Given the description of an element on the screen output the (x, y) to click on. 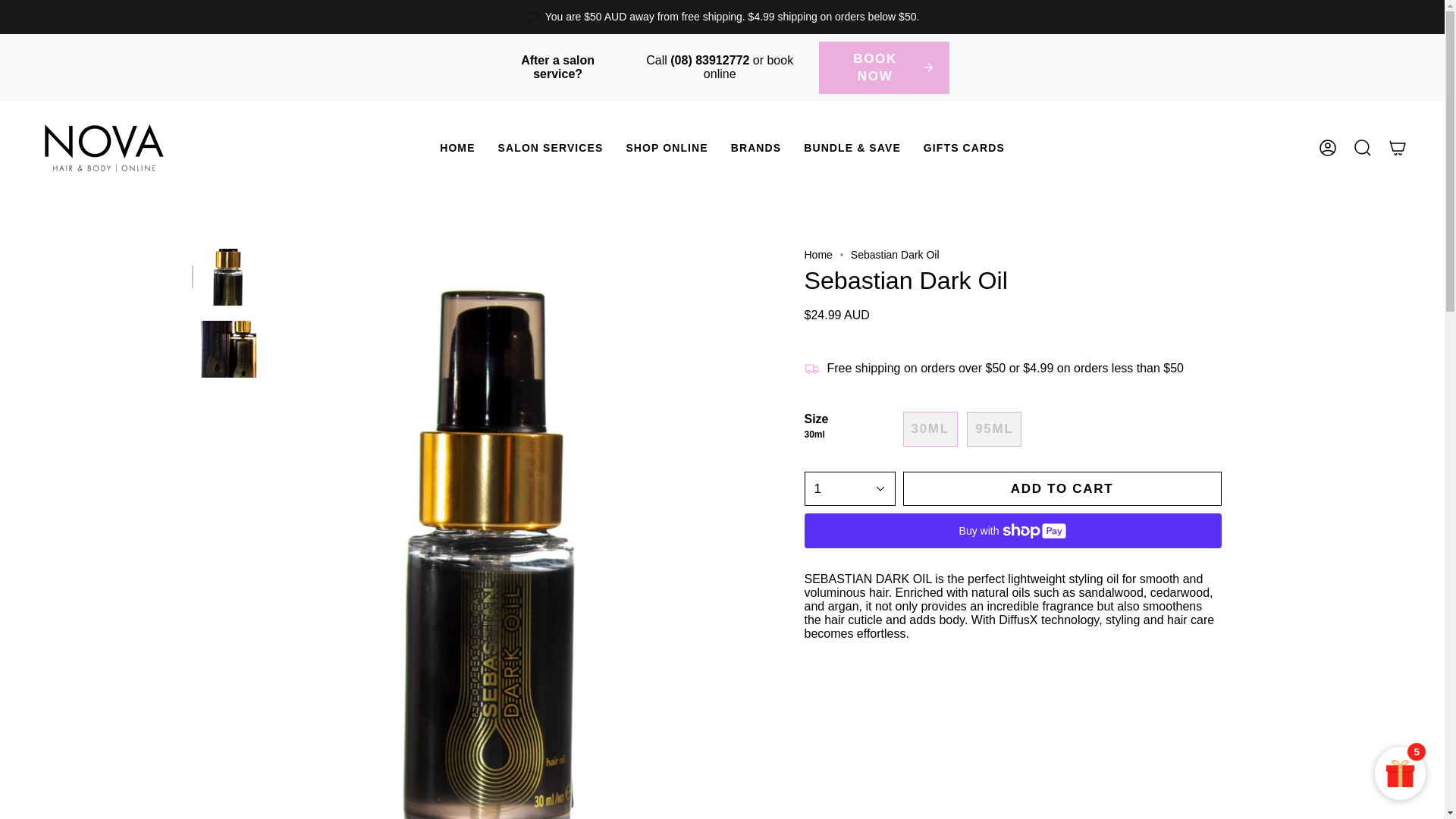
SALON SERVICES (550, 147)
SHOP ONLINE (666, 147)
BOOK NOW (884, 67)
